Given the description of an element on the screen output the (x, y) to click on. 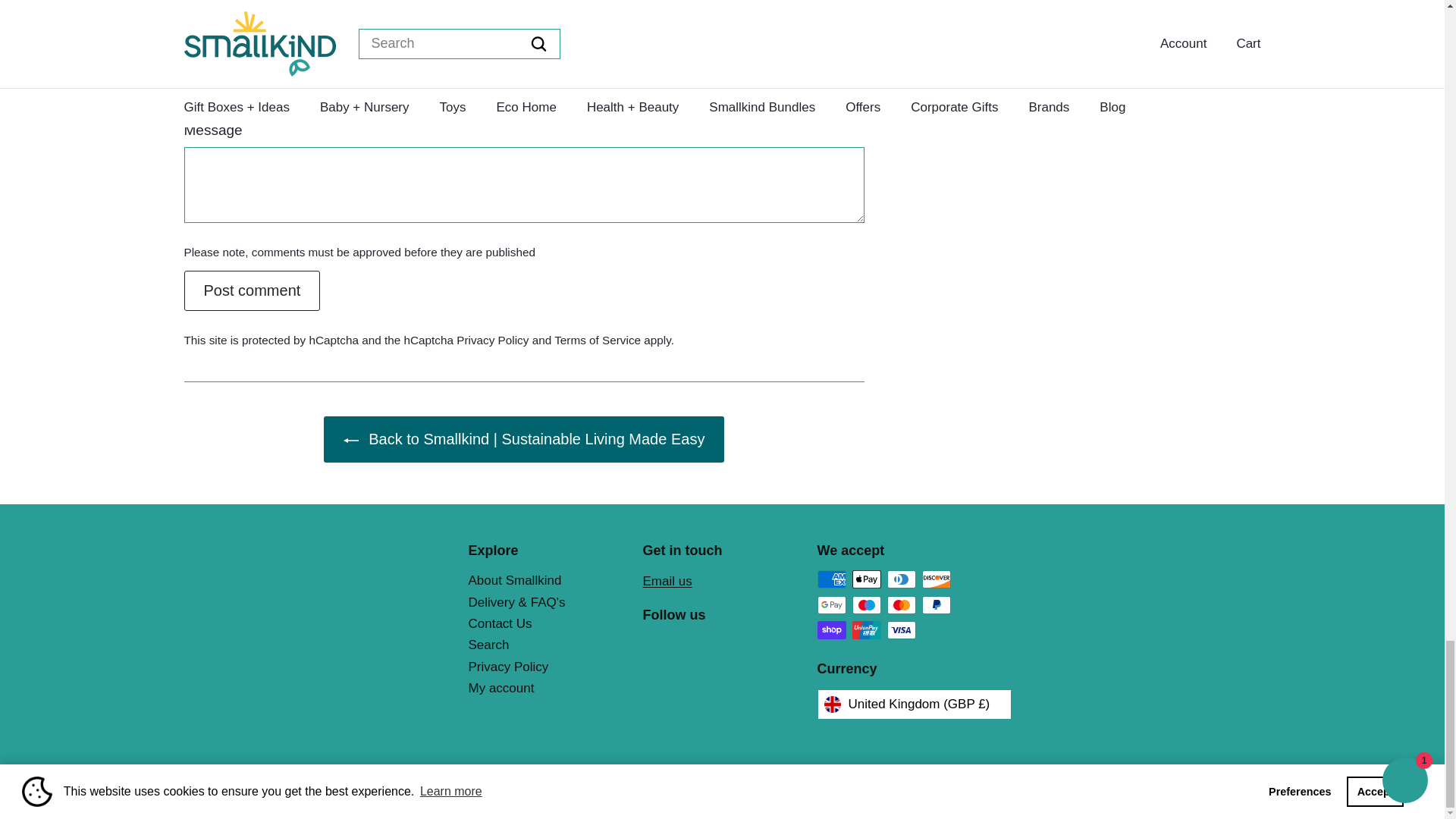
Visa (900, 629)
Shop Pay (830, 629)
icon-left-arrow (350, 440)
Google Pay (830, 605)
Mastercard (900, 605)
American Express (830, 579)
Apple Pay (865, 579)
Discover (935, 579)
Diners Club (900, 579)
Maestro (865, 605)
PayPal (935, 605)
Union Pay (865, 629)
